Given the description of an element on the screen output the (x, y) to click on. 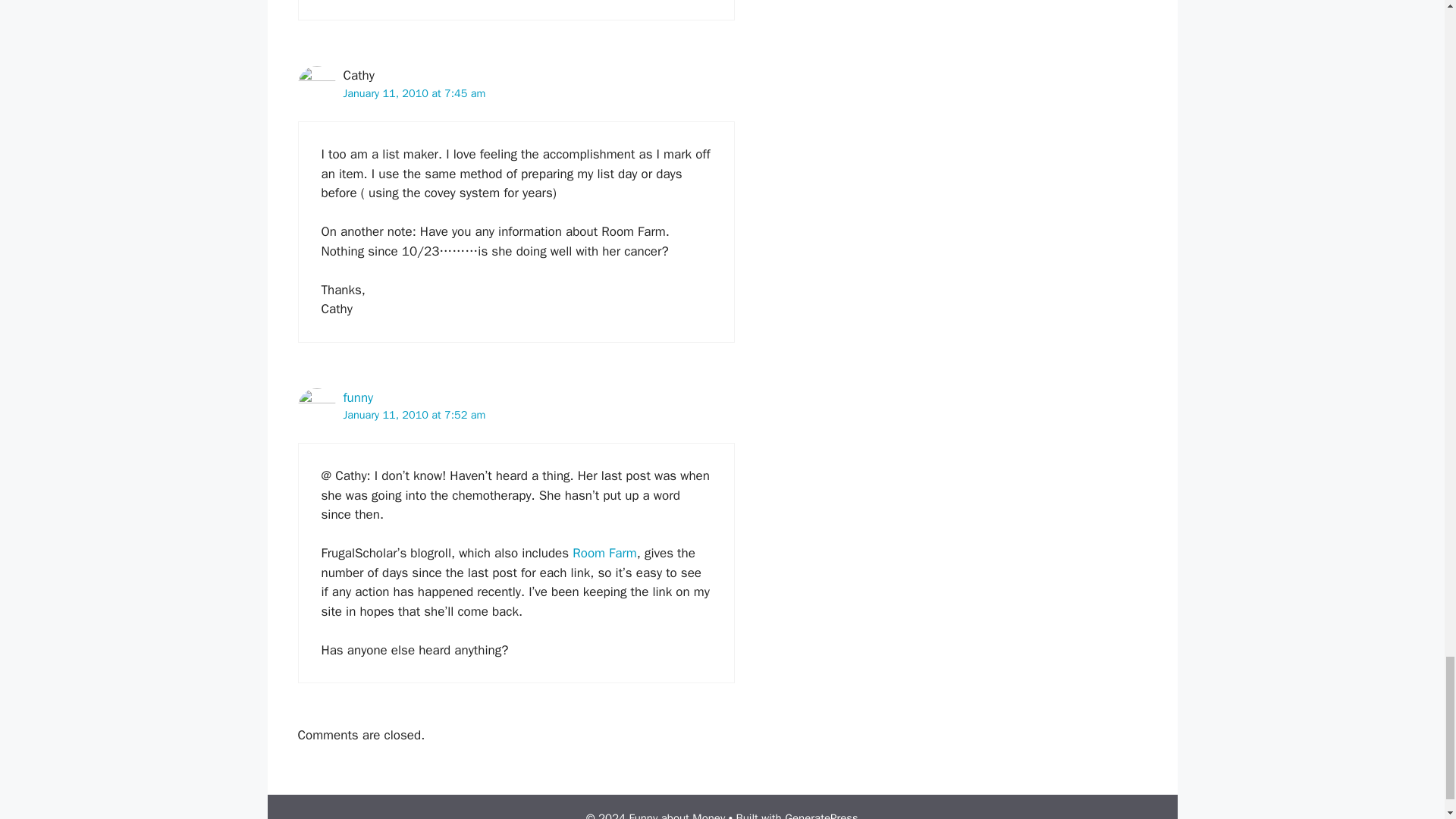
funny (357, 397)
January 11, 2010 at 7:52 am (413, 414)
January 11, 2010 at 7:45 am (413, 92)
Room Farm (604, 553)
